Given the description of an element on the screen output the (x, y) to click on. 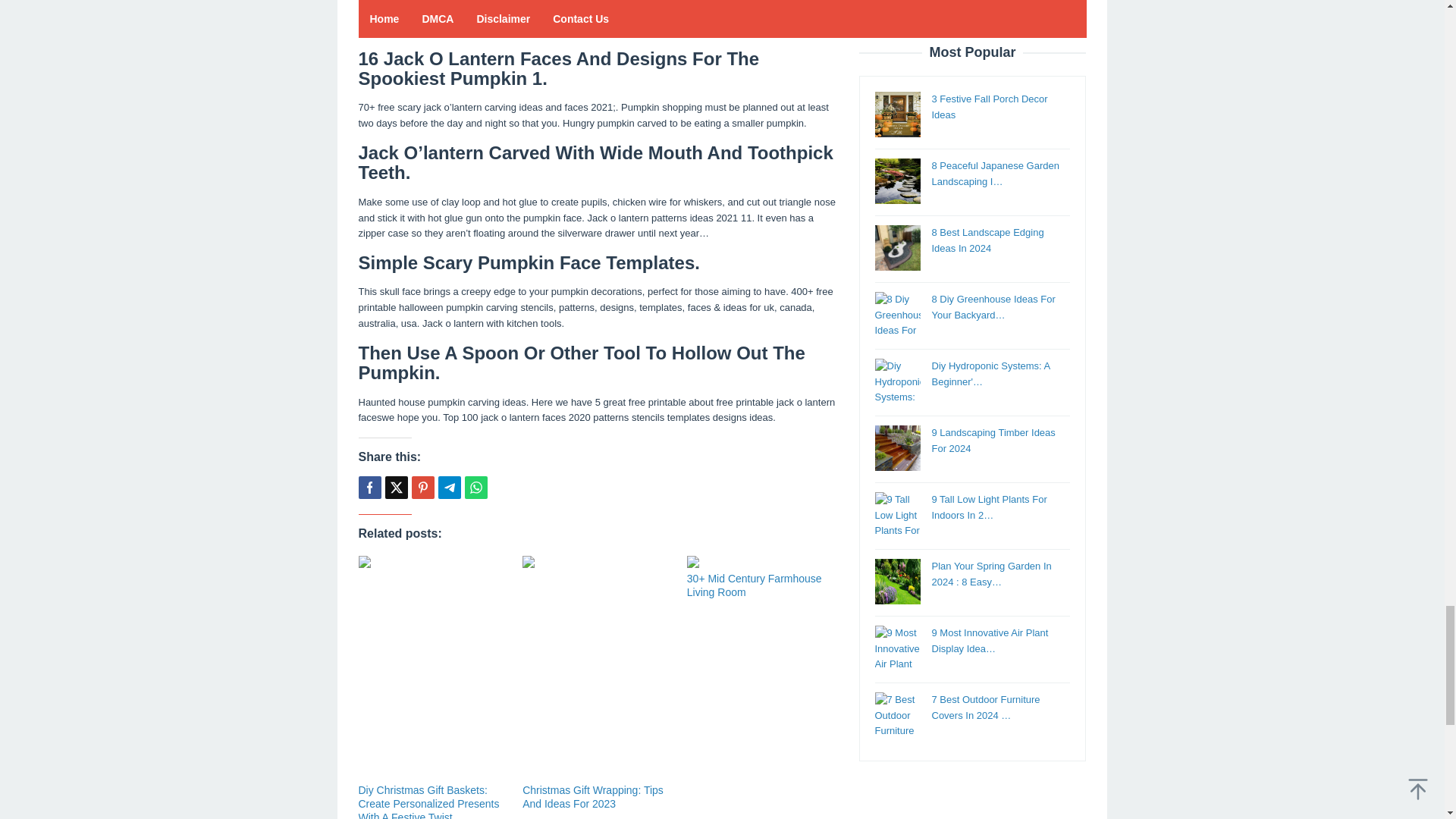
Tweet this (396, 486)
Telegram Share (449, 486)
Share this (369, 486)
Whatsapp (475, 486)
Pin this (421, 486)
Christmas Gift Wrapping: Tips And Ideas For 2023 (592, 796)
